Given the description of an element on the screen output the (x, y) to click on. 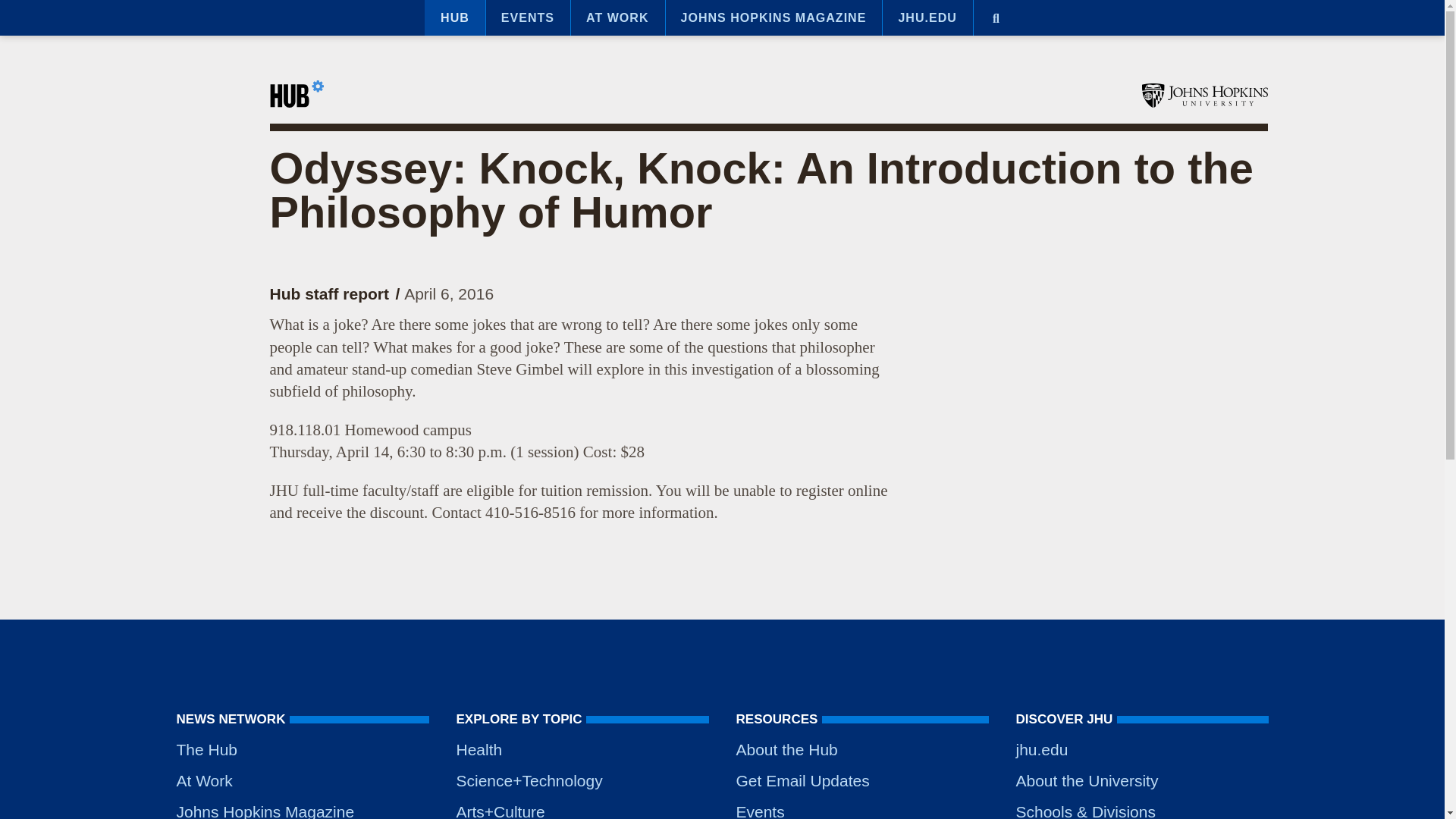
JHU.EDU (927, 18)
JOHNS HOPKINS MAGAZINE (773, 18)
EVENTS (527, 18)
AT WORK (616, 18)
Johns Hopkins University (1204, 95)
HUB (454, 18)
